Given the description of an element on the screen output the (x, y) to click on. 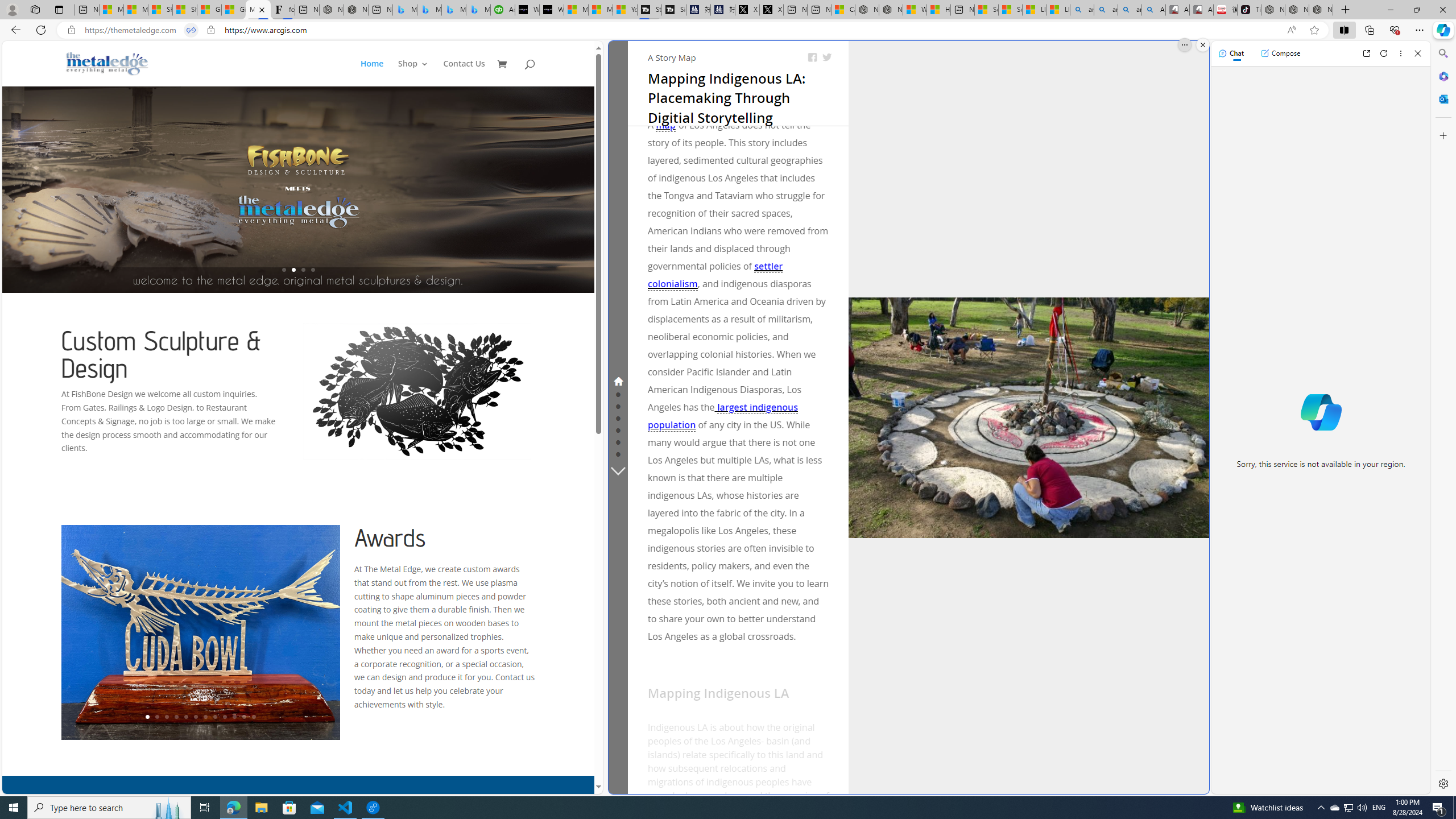
More options. (1183, 45)
8 (214, 716)
Outlook (1442, 98)
Microsoft Bing Travel - Stays in Bangkok, Bangkok, Thailand (429, 9)
A Story Map (671, 57)
